Given the description of an element on the screen output the (x, y) to click on. 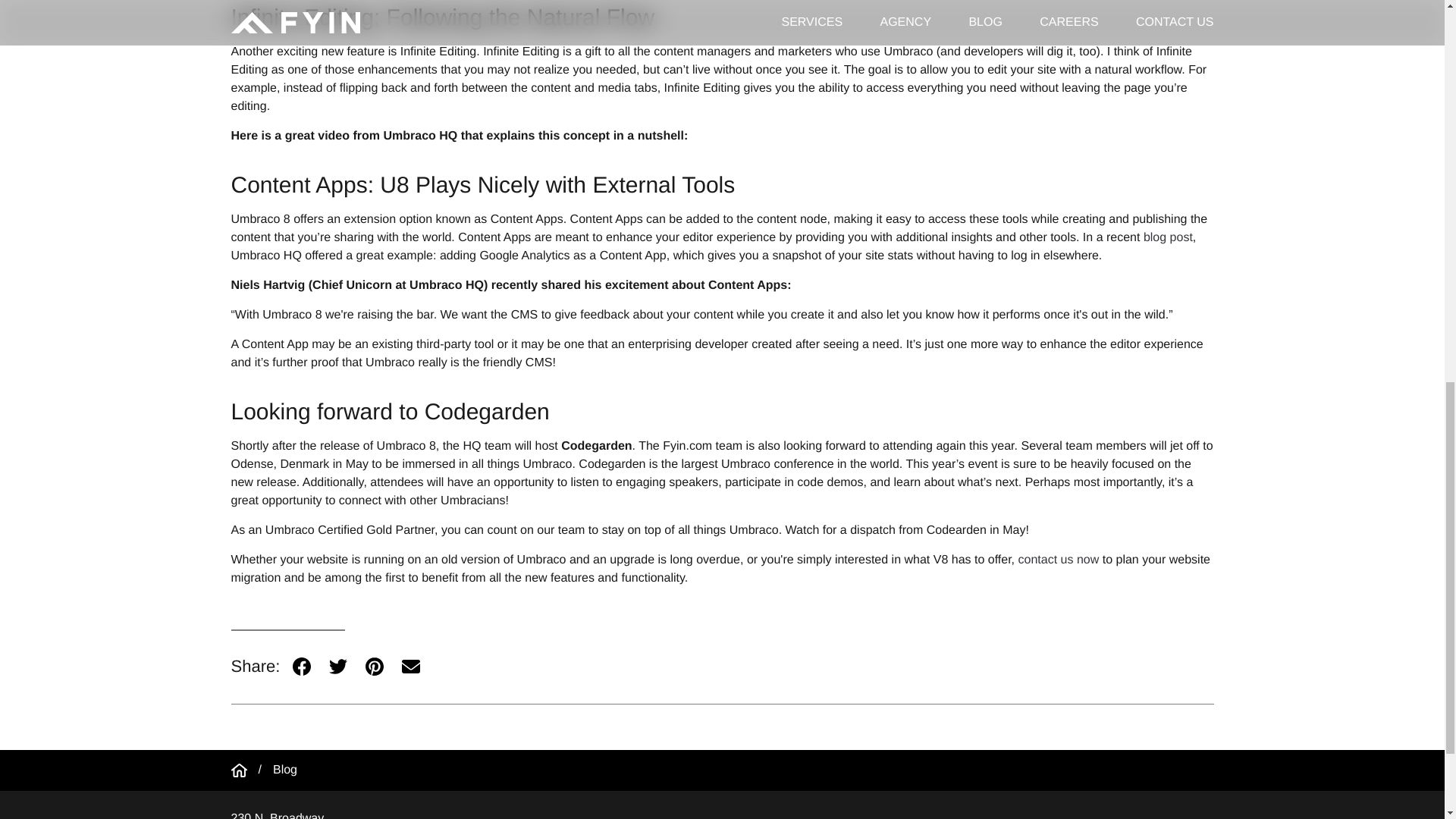
Facebook (301, 666)
Blog (285, 770)
contact us now (1058, 559)
Contact (1058, 559)
blog post (1167, 237)
